Given the description of an element on the screen output the (x, y) to click on. 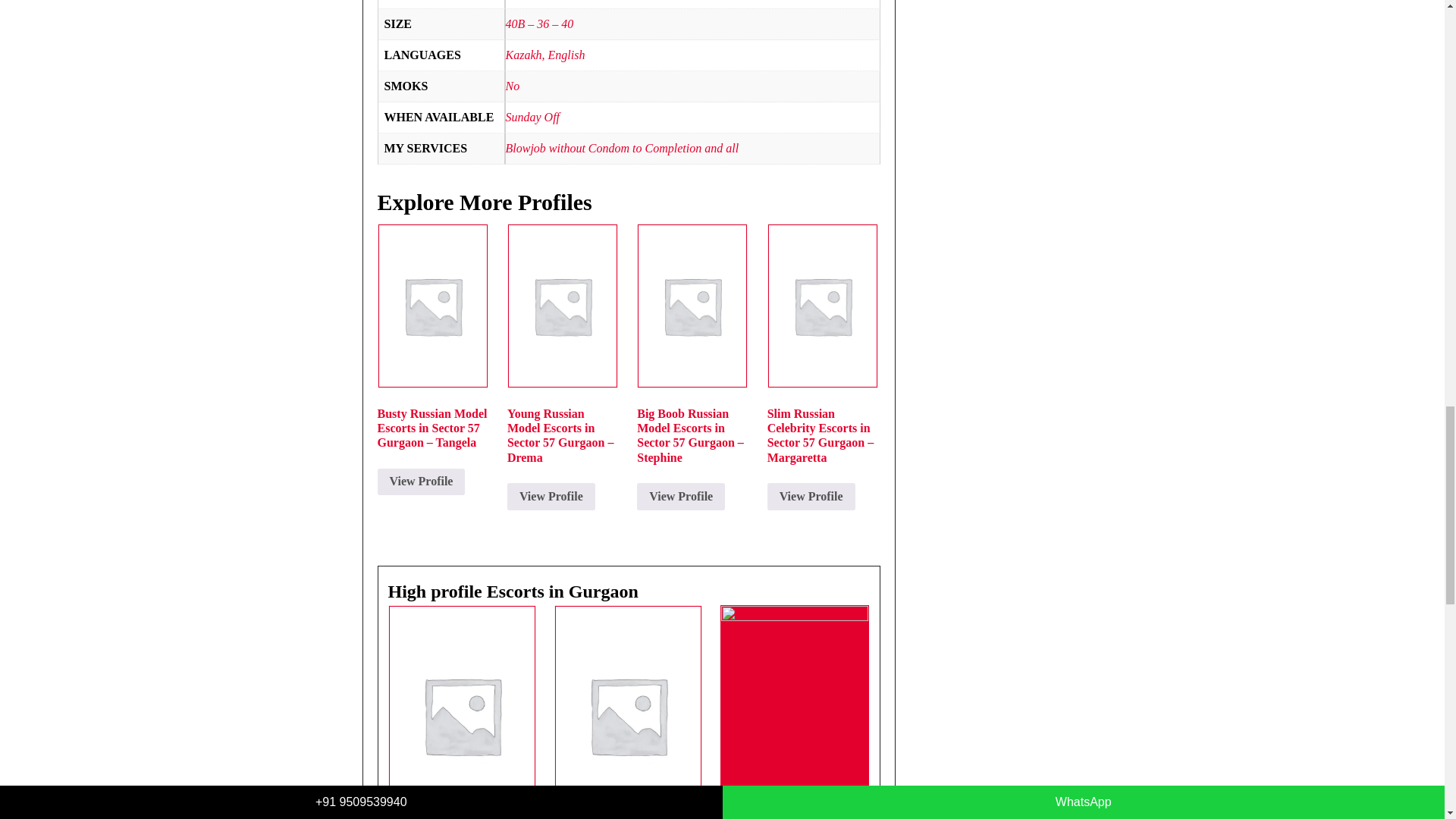
Sunday Off (532, 116)
Blowjob without Condom to Completion and all (621, 147)
View Profile (421, 482)
Kazakh, English (545, 54)
No (512, 85)
